Given the description of an element on the screen output the (x, y) to click on. 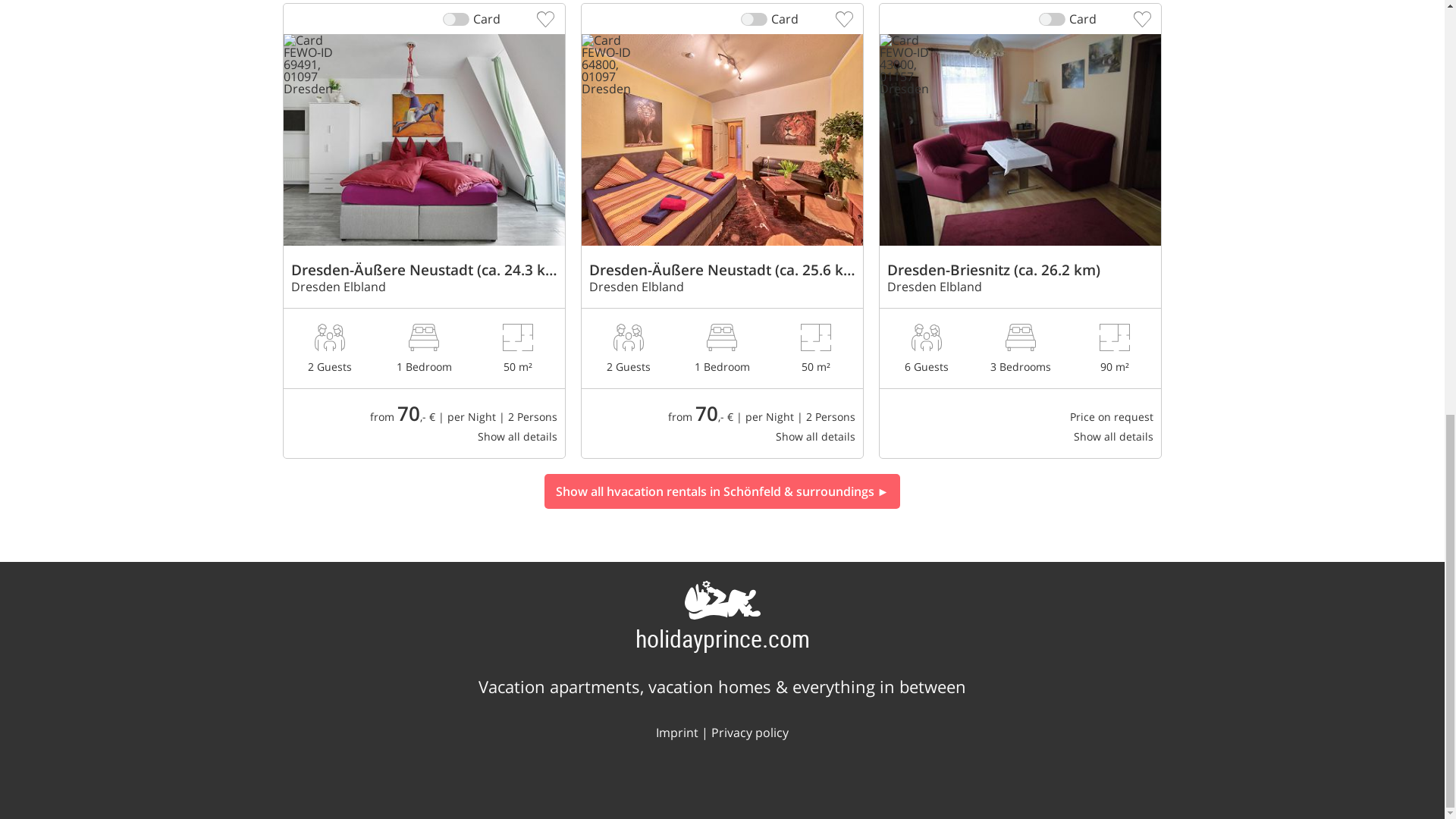
Imprint (677, 732)
Vacation apartment Ferien bei Seifert, Dresden Elbland (1019, 345)
holidayprince.com (721, 637)
Privacy policy (750, 732)
